Given the description of an element on the screen output the (x, y) to click on. 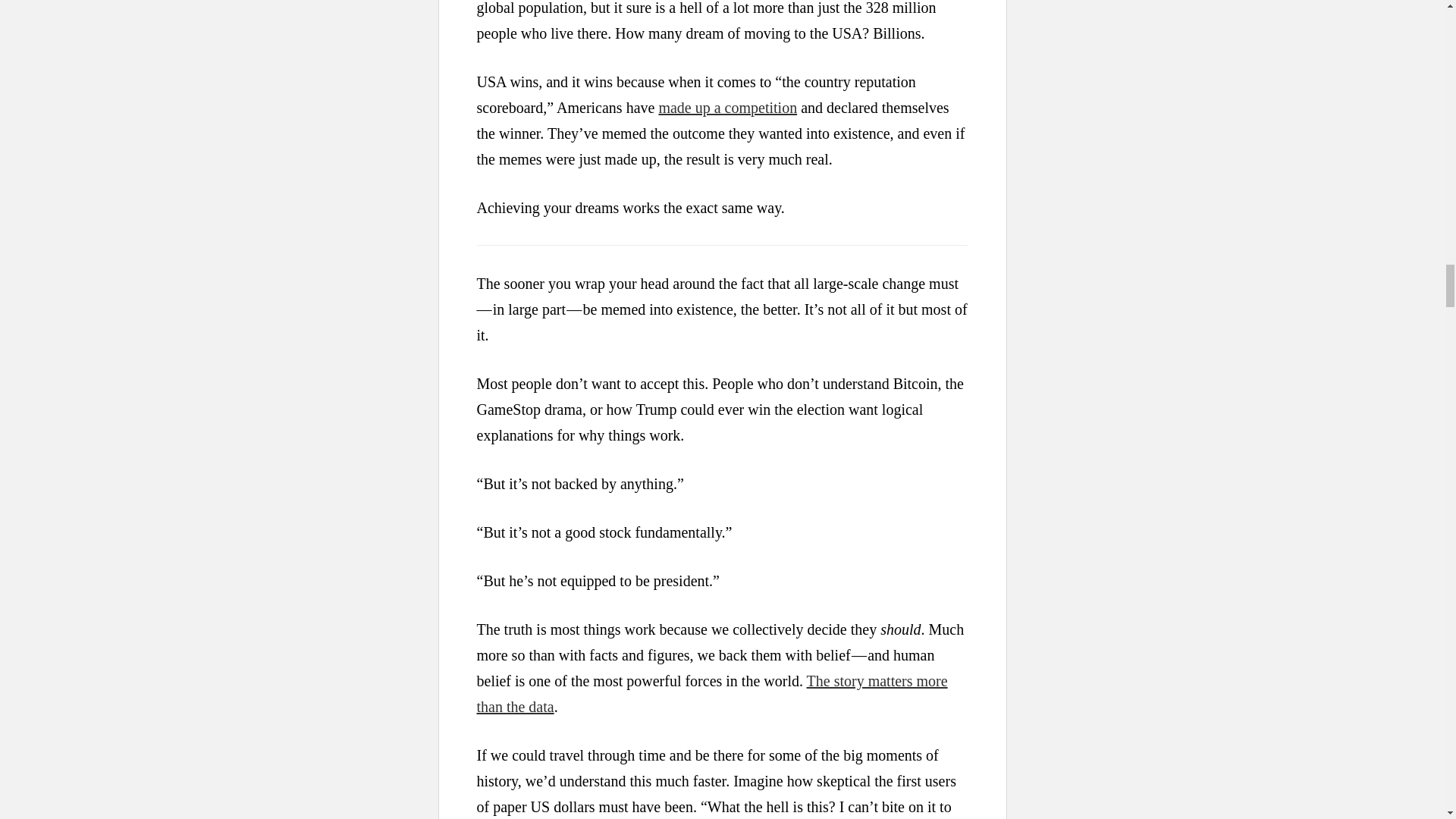
The story matters more than the data (711, 693)
made up a competition (727, 107)
